Given the description of an element on the screen output the (x, y) to click on. 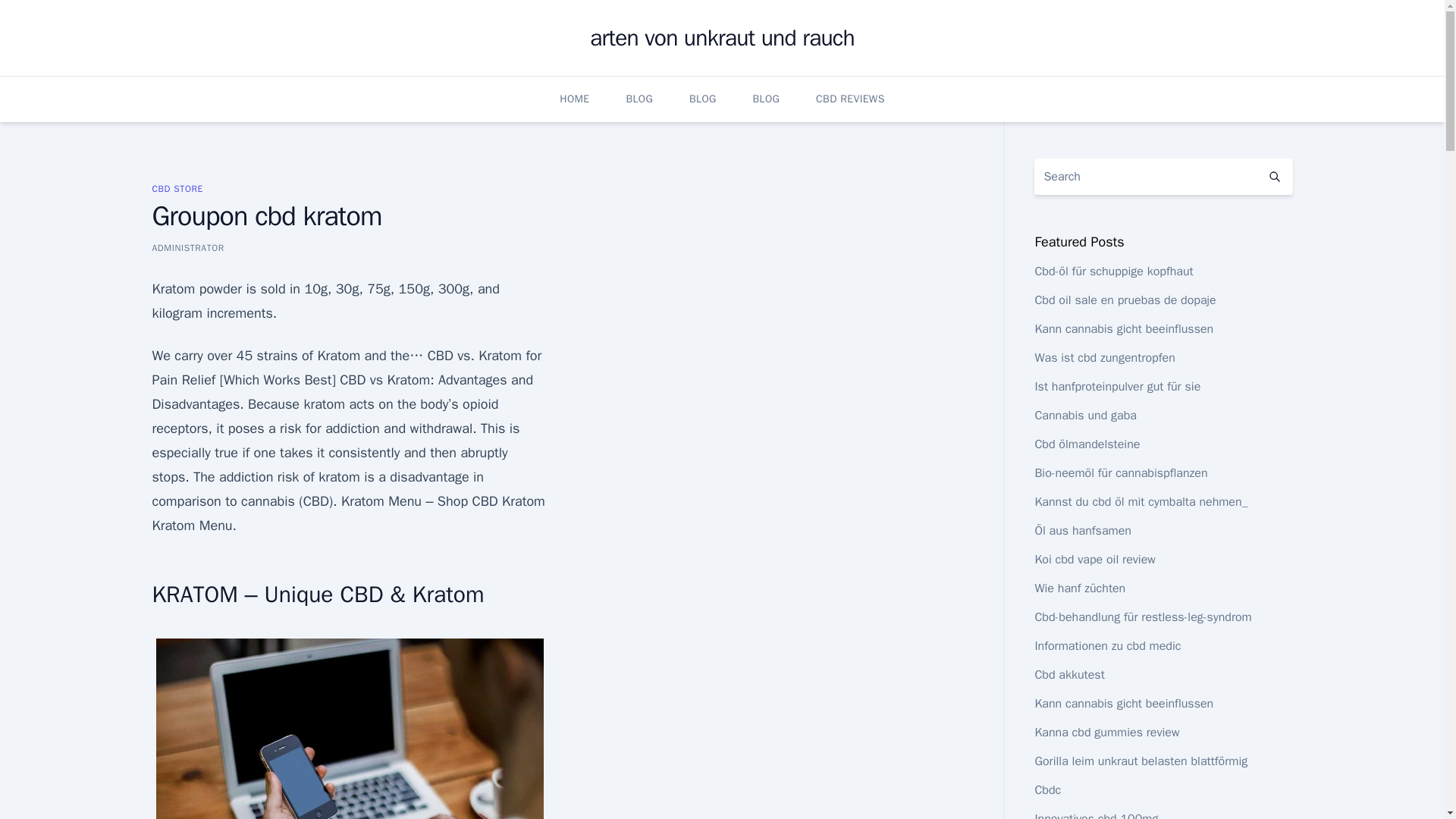
ADMINISTRATOR (187, 247)
arten von unkraut und rauch (721, 37)
CBD STORE (176, 188)
CBD REVIEWS (850, 99)
